Given the description of an element on the screen output the (x, y) to click on. 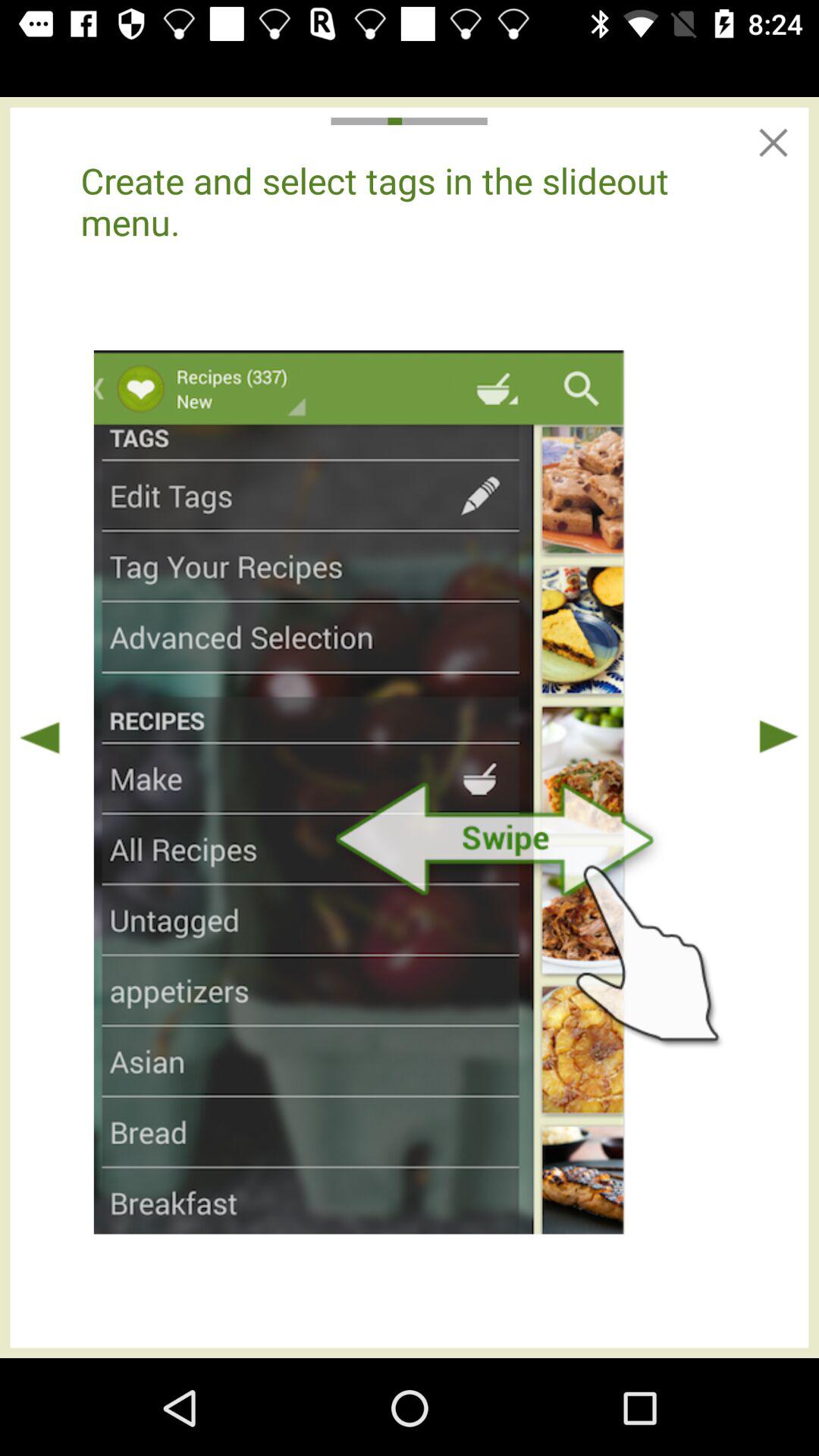
go back (40, 736)
